Given the description of an element on the screen output the (x, y) to click on. 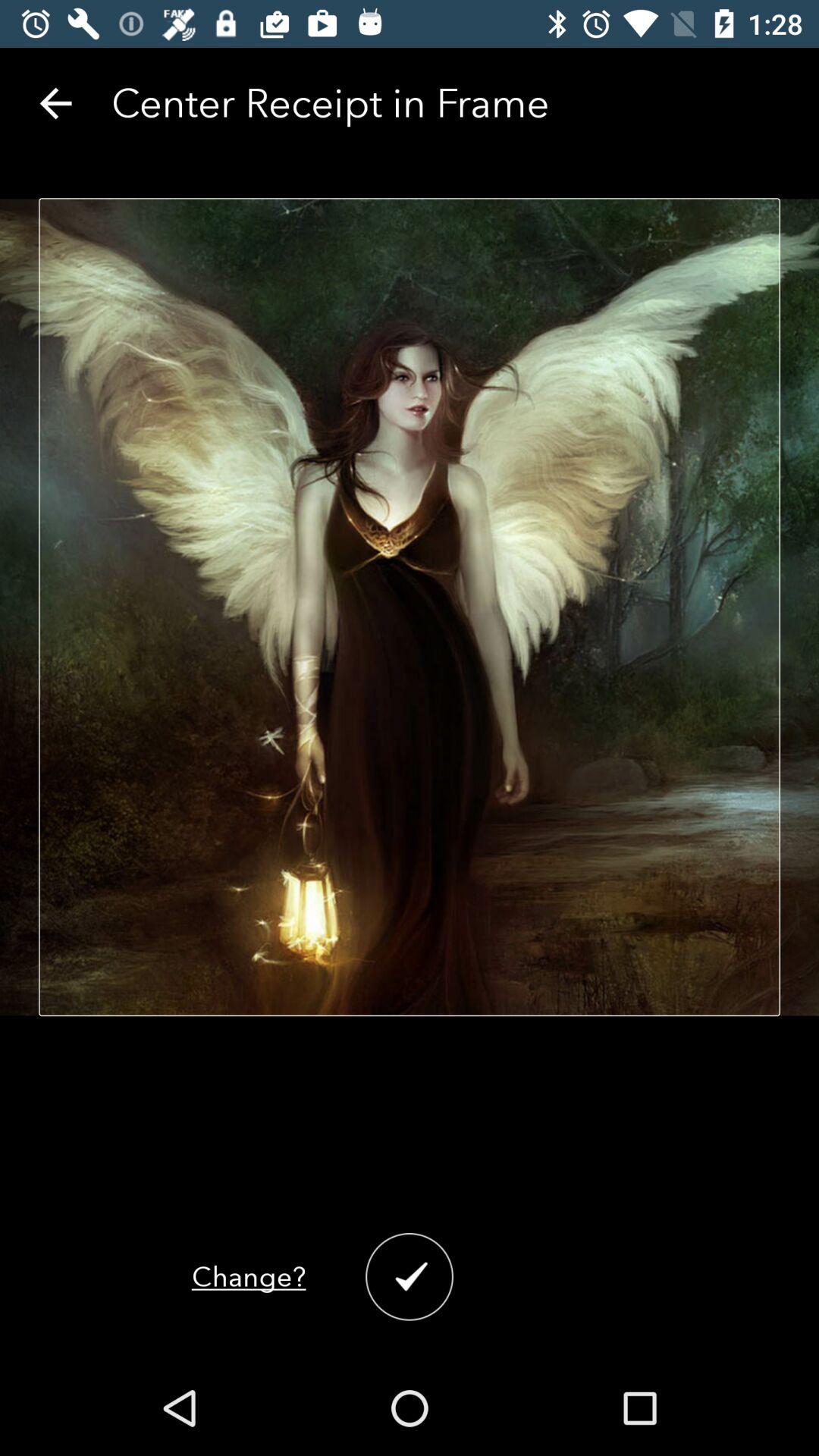
launch the icon to the left of the center receipt in item (55, 103)
